Given the description of an element on the screen output the (x, y) to click on. 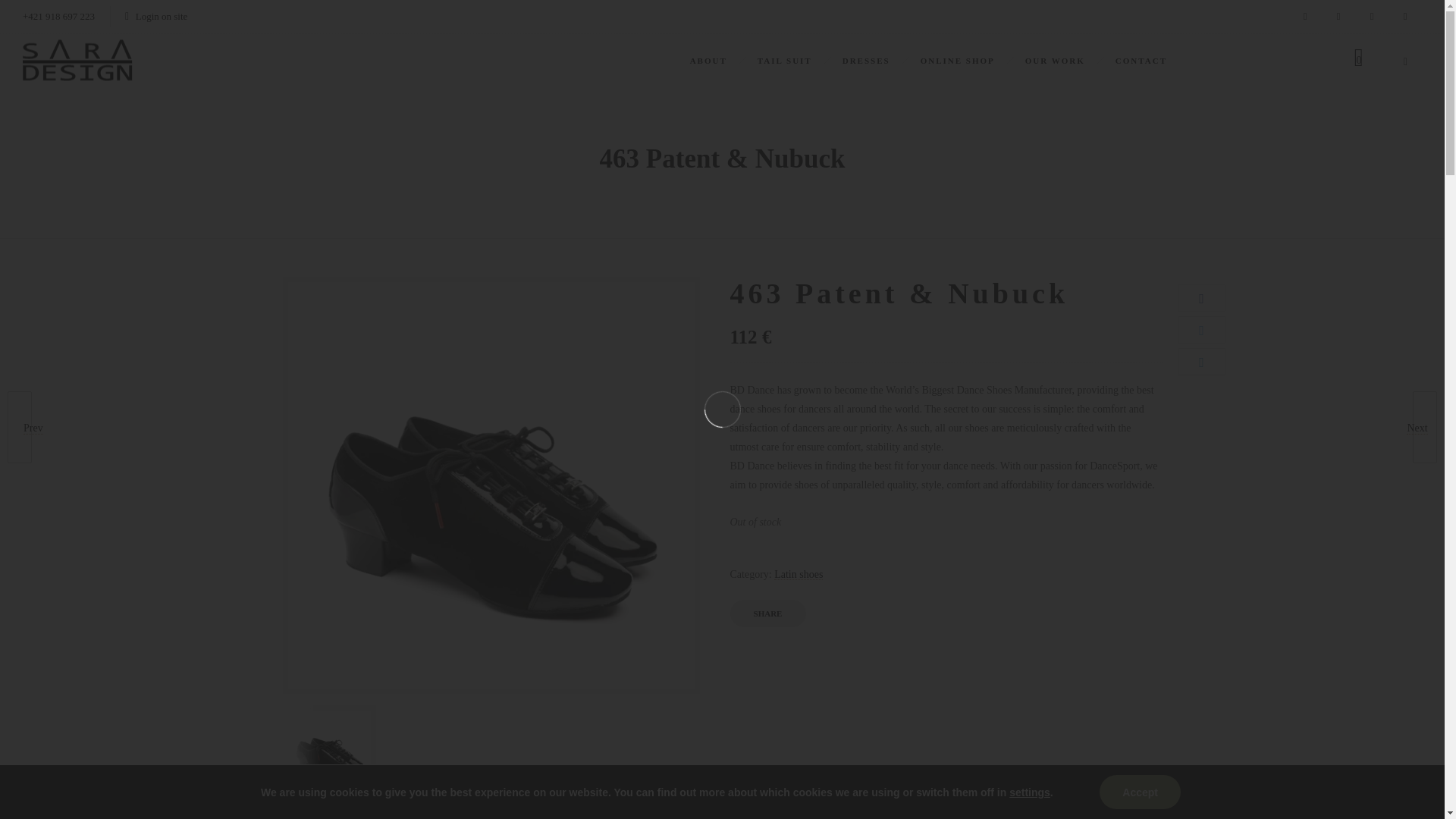
ONLINE SHOP (957, 60)
Instagram (1338, 16)
0 (1358, 60)
ABOUT (708, 60)
Login on site (156, 16)
mail (1405, 16)
TAIL SUIT (784, 60)
YouTube (1372, 16)
Facebook (1305, 16)
DRESSES (866, 60)
